Given the description of an element on the screen output the (x, y) to click on. 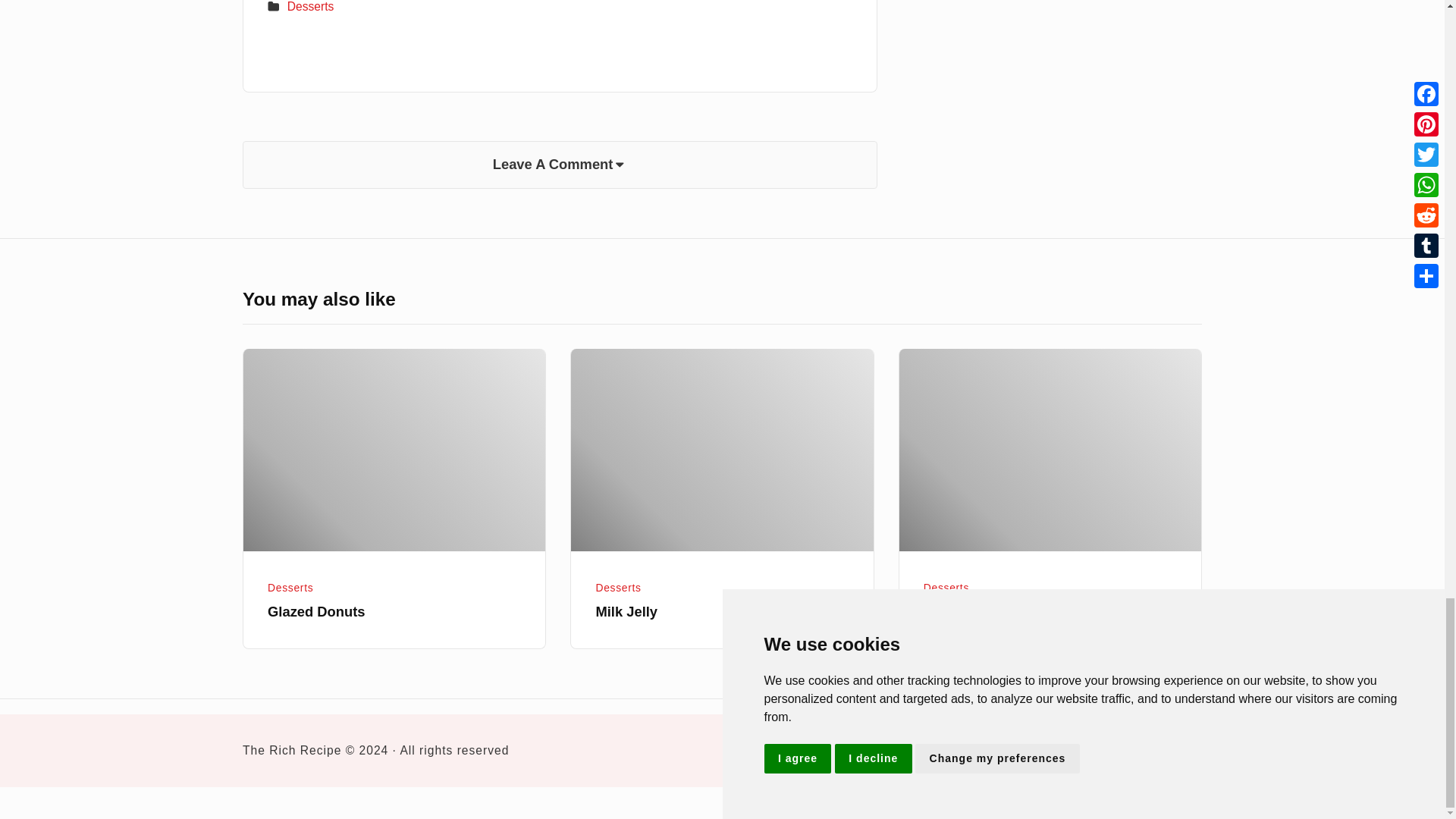
Glazed Donuts (394, 449)
Desserts (310, 6)
Glazed Donuts (316, 611)
Leave A Comment (560, 164)
Desserts (290, 587)
